Given the description of an element on the screen output the (x, y) to click on. 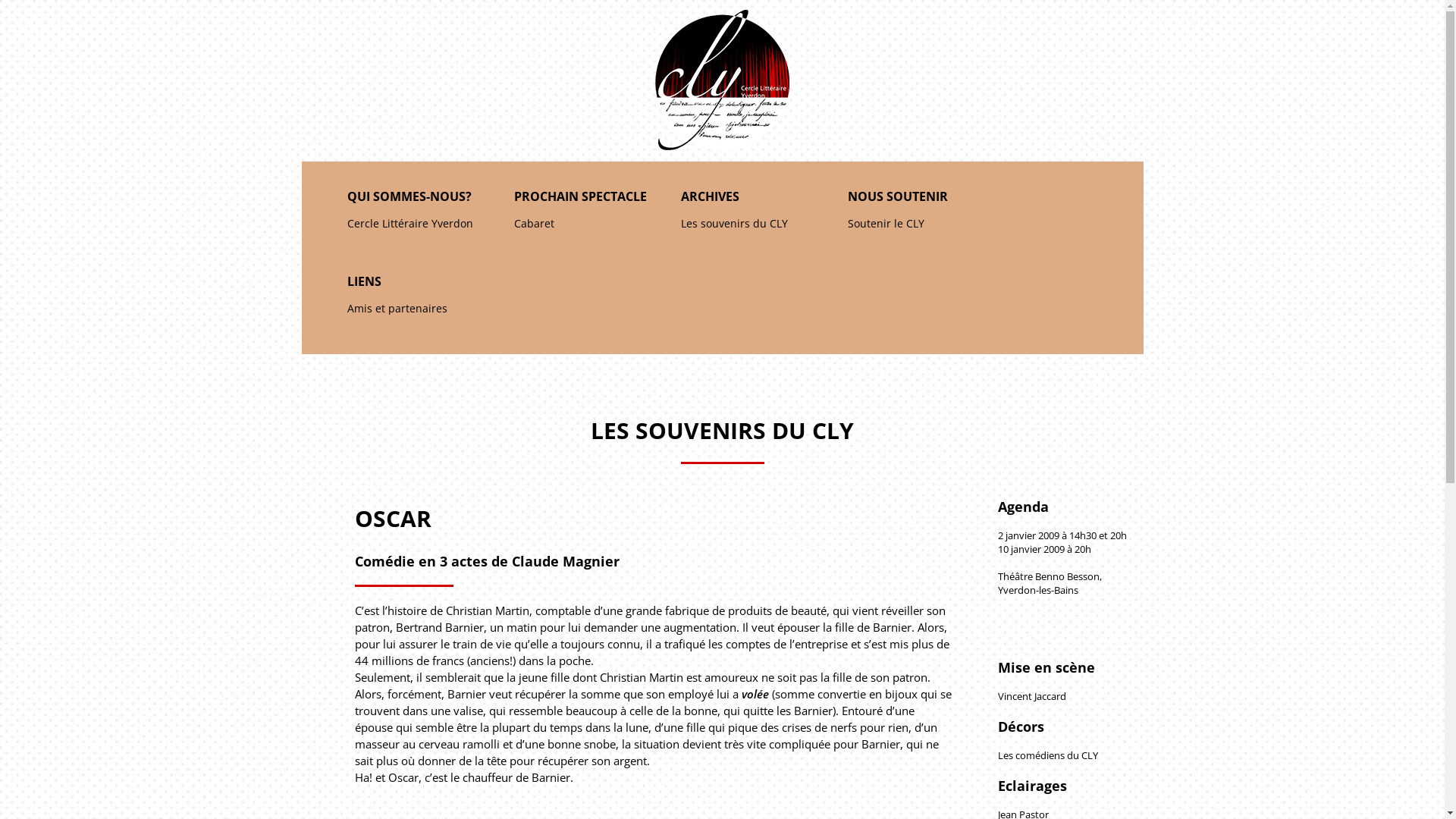
PROCHAIN SPECTACLE
Cabaret Element type: text (581, 214)
LIENS
Amis et partenaires Element type: text (415, 299)
ARCHIVES
Les souvenirs du CLY Element type: text (748, 214)
NOUS SOUTENIR
Soutenir le CLY Element type: text (915, 214)
